Given the description of an element on the screen output the (x, y) to click on. 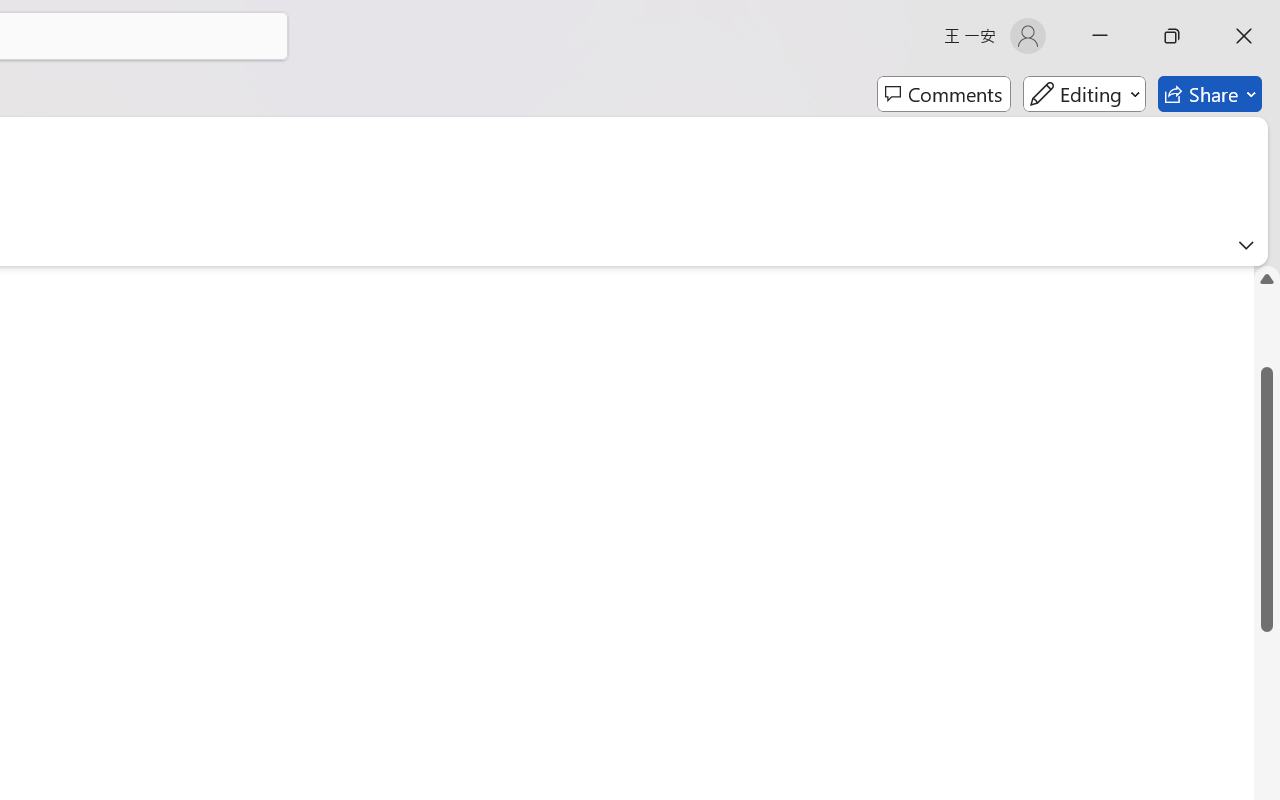
Mode (1083, 94)
Restore Down (1172, 36)
Comments (943, 94)
Ribbon Display Options (1246, 245)
Close (1244, 36)
Share (1210, 94)
Minimize (1099, 36)
